Given the description of an element on the screen output the (x, y) to click on. 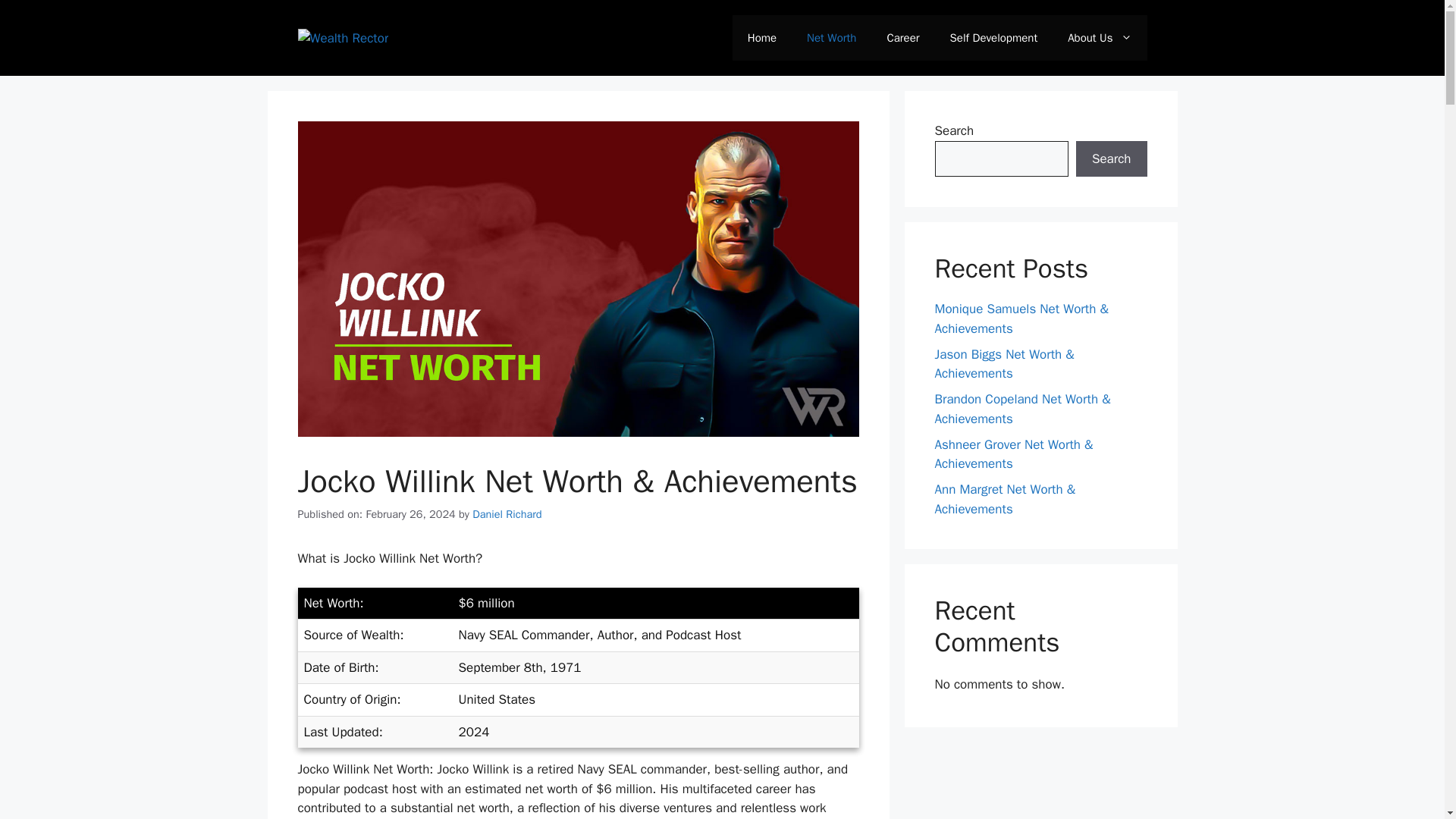
View all posts by Daniel Richard (506, 513)
Self Development (993, 37)
Search (1111, 158)
Net Worth (831, 37)
Daniel Richard (506, 513)
About Us (1099, 37)
Home (762, 37)
Career (902, 37)
